Given the description of an element on the screen output the (x, y) to click on. 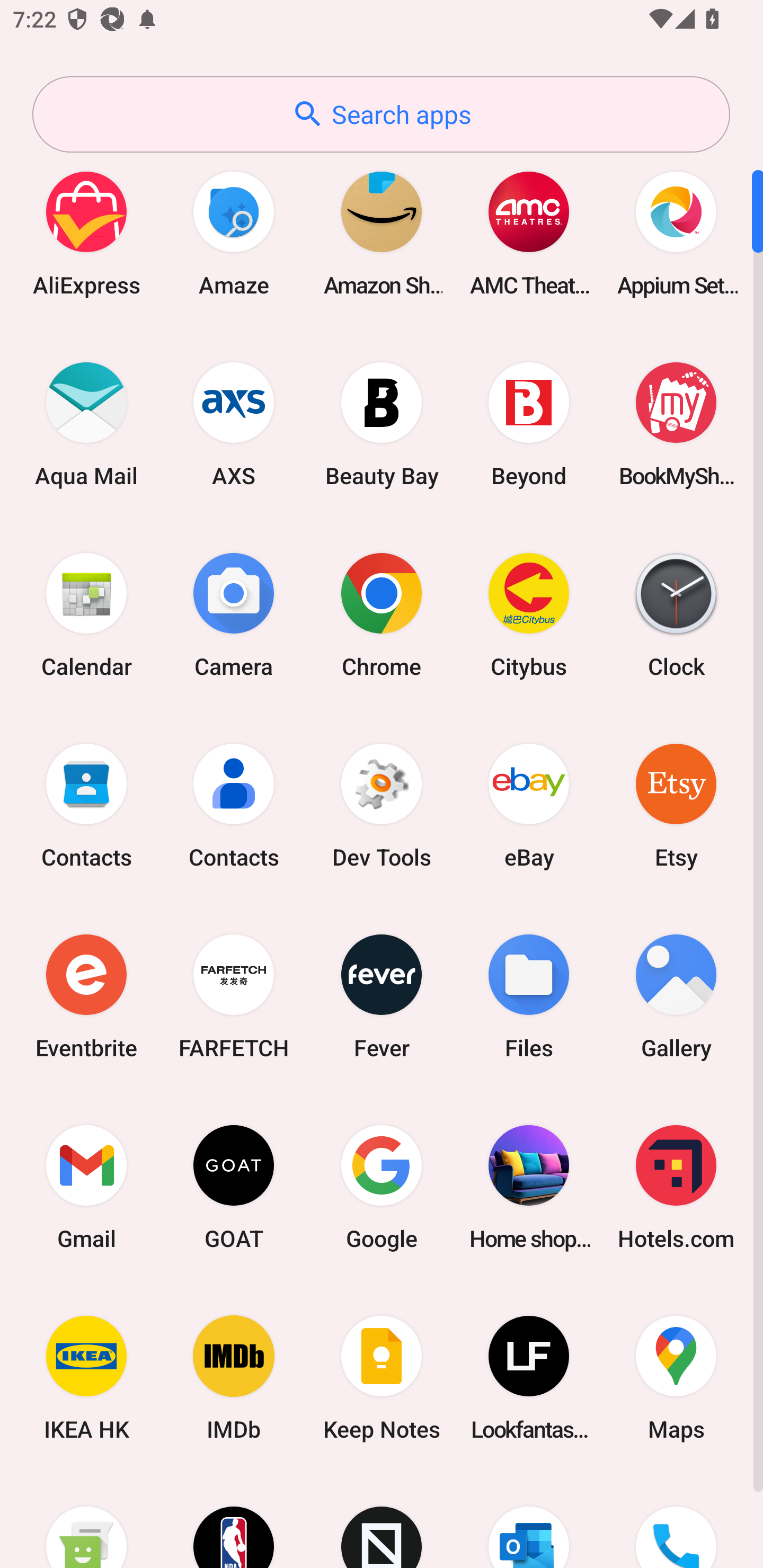
  Search apps (381, 114)
AliExpress (86, 233)
Amaze (233, 233)
Amazon Shopping (381, 233)
AMC Theatres (528, 233)
Appium Settings (676, 233)
Aqua Mail (86, 424)
AXS (233, 424)
Beauty Bay (381, 424)
Beyond (528, 424)
BookMyShow (676, 424)
Calendar (86, 614)
Camera (233, 614)
Chrome (381, 614)
Citybus (528, 614)
Clock (676, 614)
Contacts (86, 805)
Contacts (233, 805)
Dev Tools (381, 805)
eBay (528, 805)
Etsy (676, 805)
Eventbrite (86, 996)
FARFETCH (233, 996)
Fever (381, 996)
Files (528, 996)
Gallery (676, 996)
Gmail (86, 1186)
GOAT (233, 1186)
Google (381, 1186)
Home shopping (528, 1186)
Hotels.com (676, 1186)
IKEA HK (86, 1377)
IMDb (233, 1377)
Keep Notes (381, 1377)
Lookfantastic (528, 1377)
Maps (676, 1377)
